Given the description of an element on the screen output the (x, y) to click on. 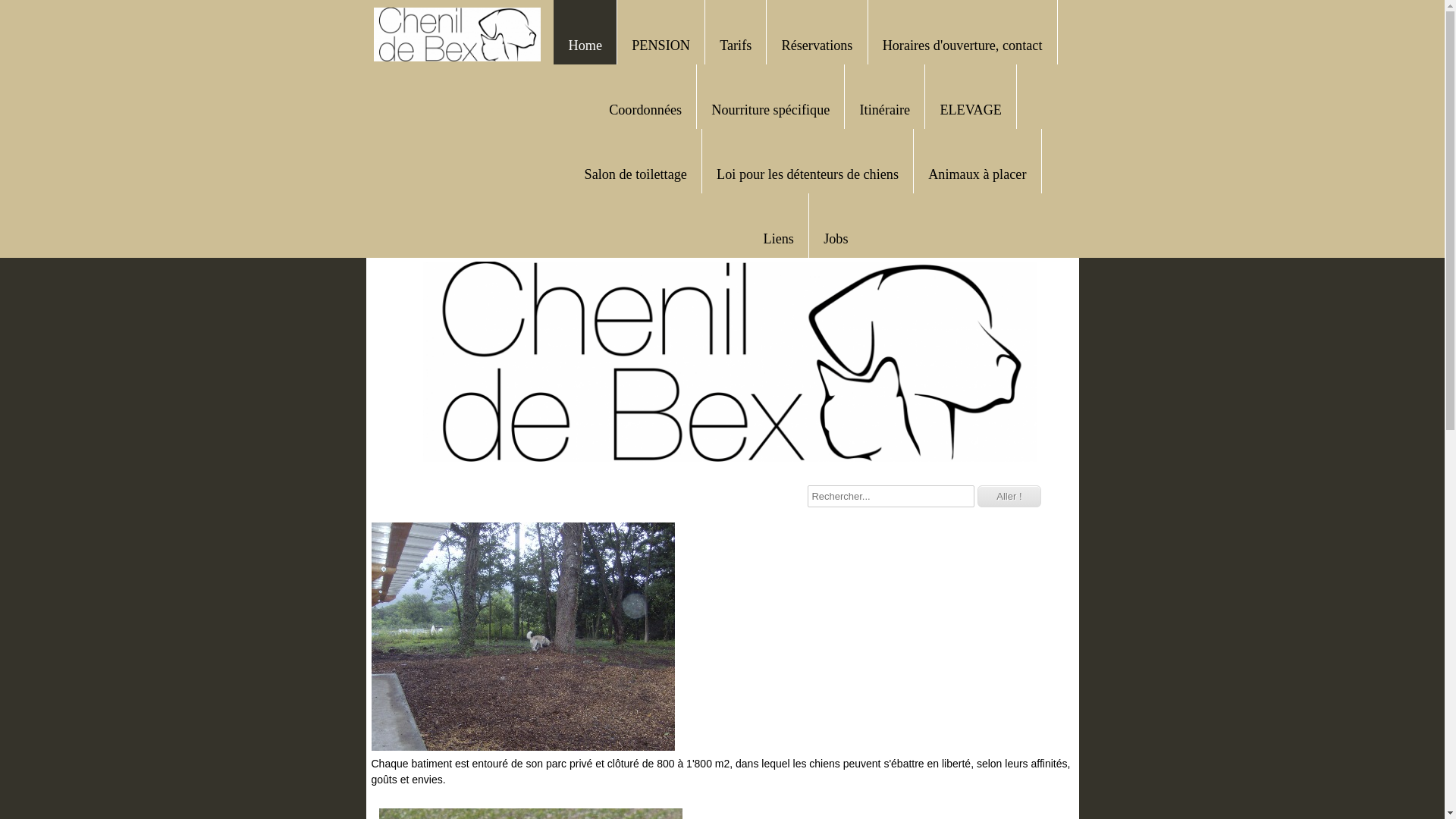
Horaires d'ouverture, contact Element type: text (962, 43)
Liens Element type: text (778, 236)
Home Element type: text (585, 43)
PENSION Element type: text (660, 43)
ELEVAGE Element type: text (970, 107)
Salon de toilettage Element type: text (635, 172)
Jobs Element type: text (835, 236)
Tarifs Element type: text (735, 43)
